Given the description of an element on the screen output the (x, y) to click on. 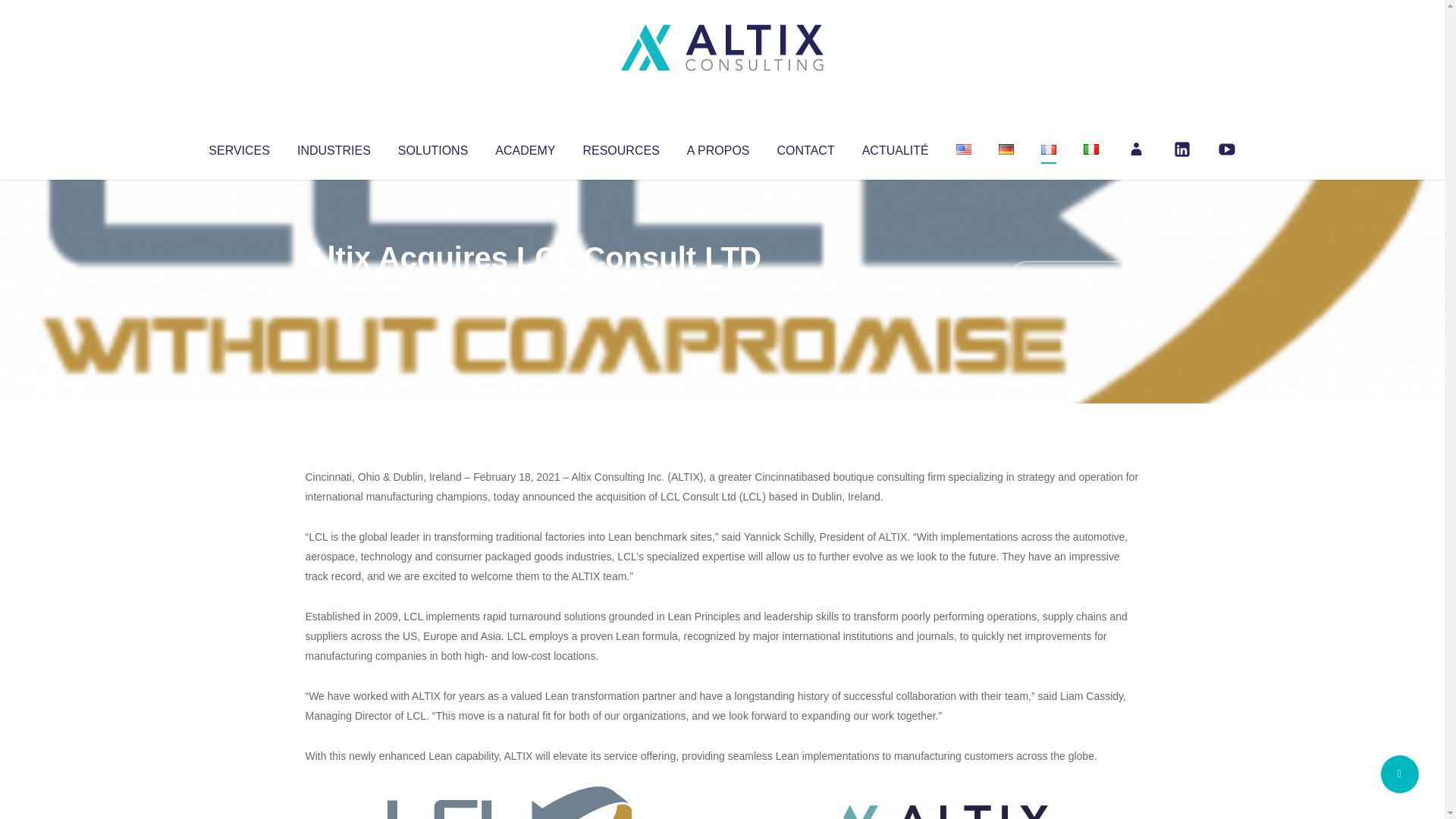
Altix (333, 287)
ACADEMY (524, 146)
RESOURCES (620, 146)
INDUSTRIES (334, 146)
SOLUTIONS (432, 146)
A PROPOS (718, 146)
No Comments (1073, 278)
SERVICES (238, 146)
Articles par Altix (333, 287)
Uncategorized (530, 287)
